Given the description of an element on the screen output the (x, y) to click on. 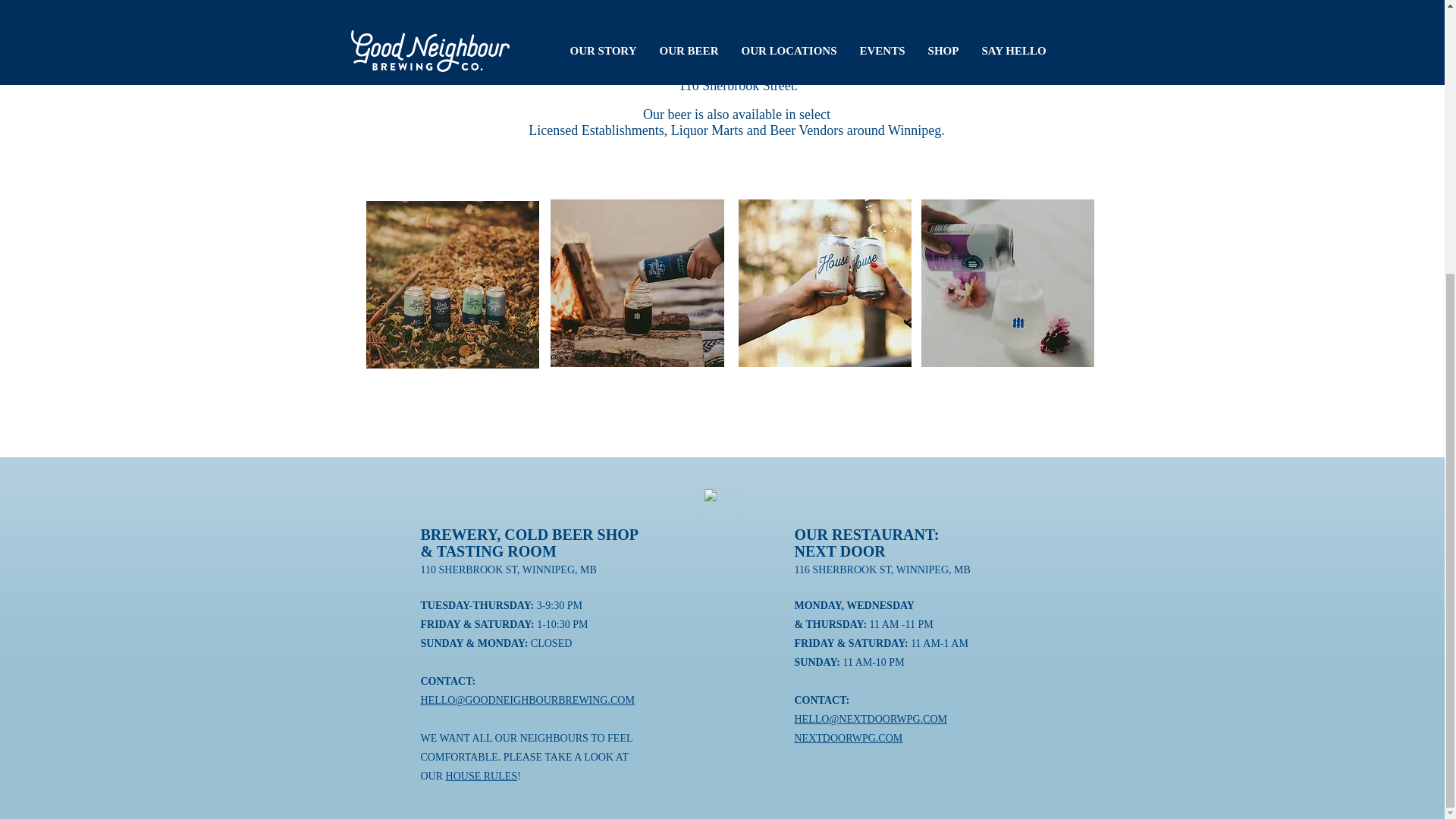
NEXTDOORWPG.COM (848, 737)
HERE (940, 20)
HOUSE RULES (481, 776)
